Given the description of an element on the screen output the (x, y) to click on. 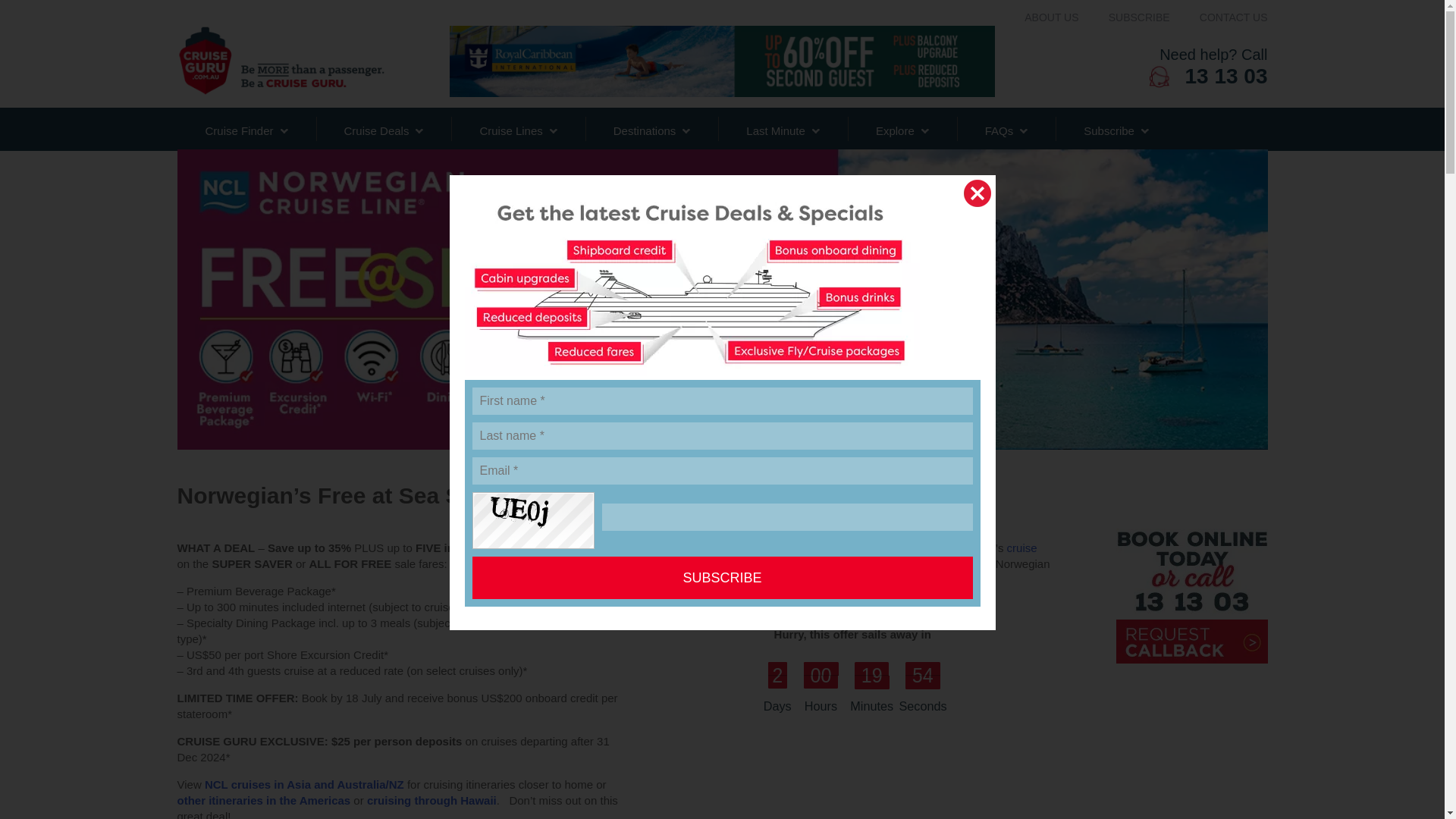
ABOUT US (1131, 66)
Cruise Finder (1051, 17)
SUBSCRIBE (246, 128)
CONTACT US (1139, 17)
Cruise Deals (1233, 17)
